Given the description of an element on the screen output the (x, y) to click on. 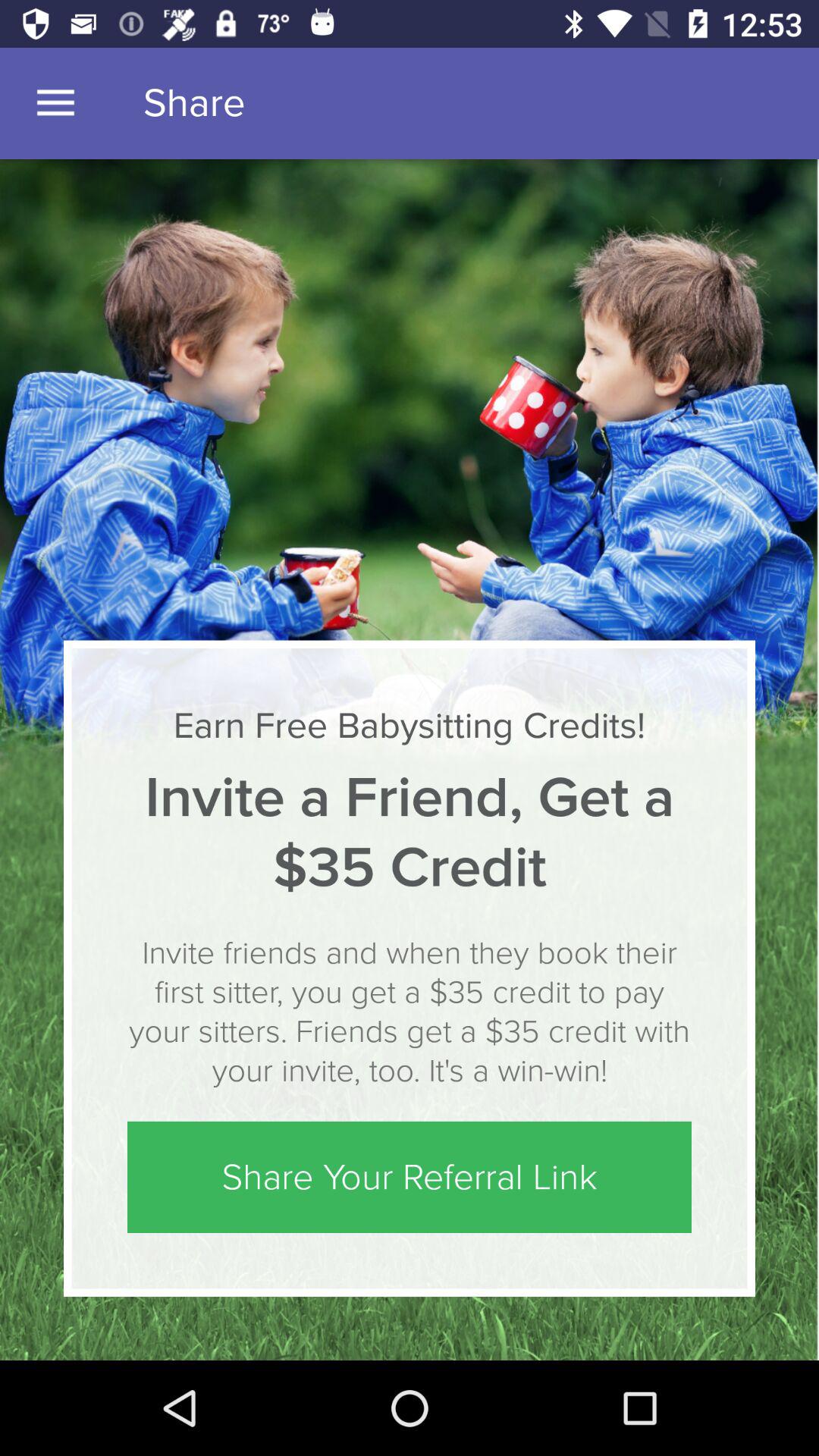
select item to the left of the share (55, 103)
